Given the description of an element on the screen output the (x, y) to click on. 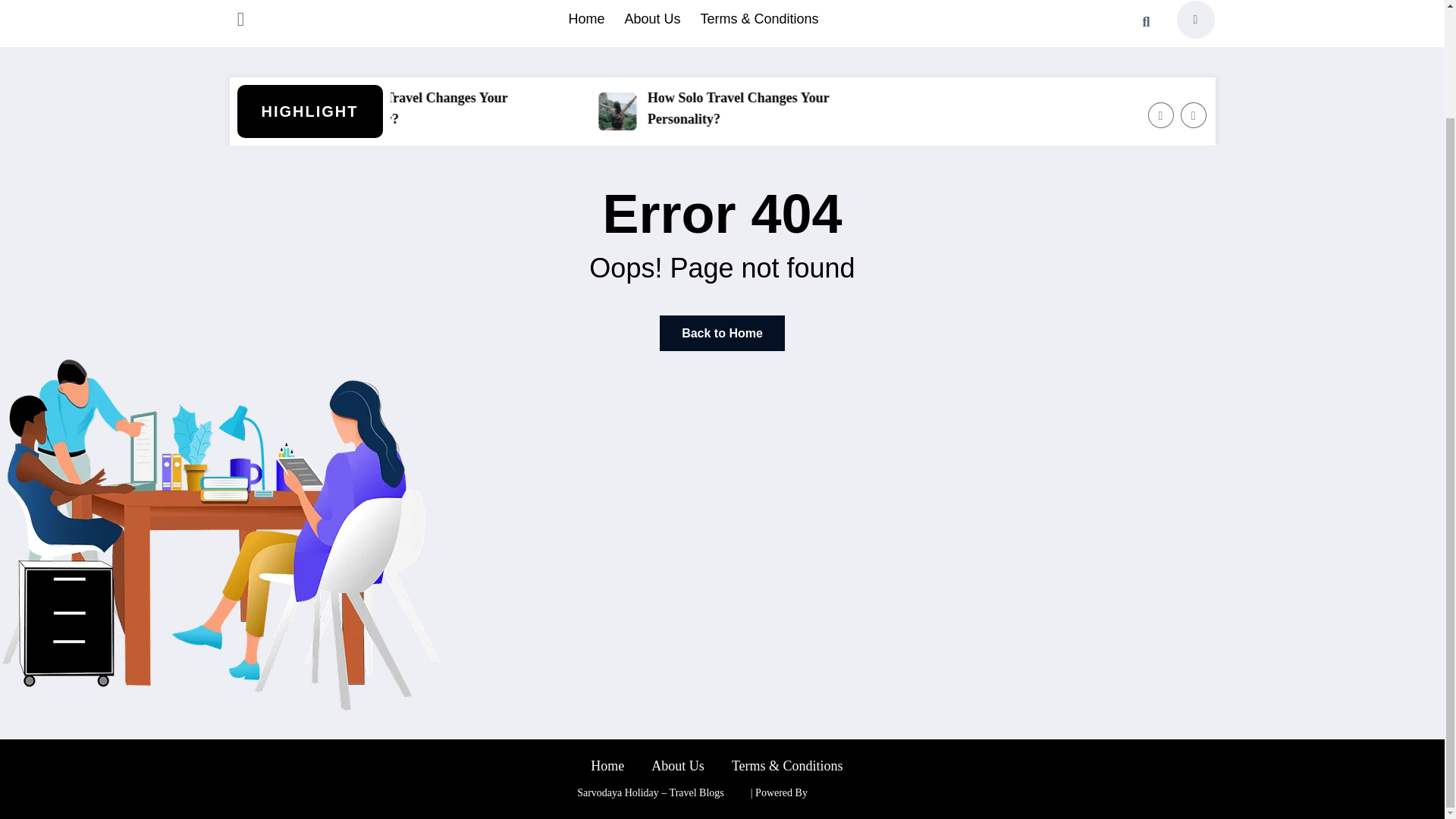
How Solo Travel Changes Your Personality? (876, 108)
Home (607, 765)
How Solo Travel Changes Your Personality? (541, 108)
How Solo Travel Changes Your Personality? (863, 108)
SpiceThemes (837, 792)
Search (1145, 21)
Back to Home (721, 333)
About Us (677, 765)
Toggle Icon (239, 20)
Home (585, 19)
